Given the description of an element on the screen output the (x, y) to click on. 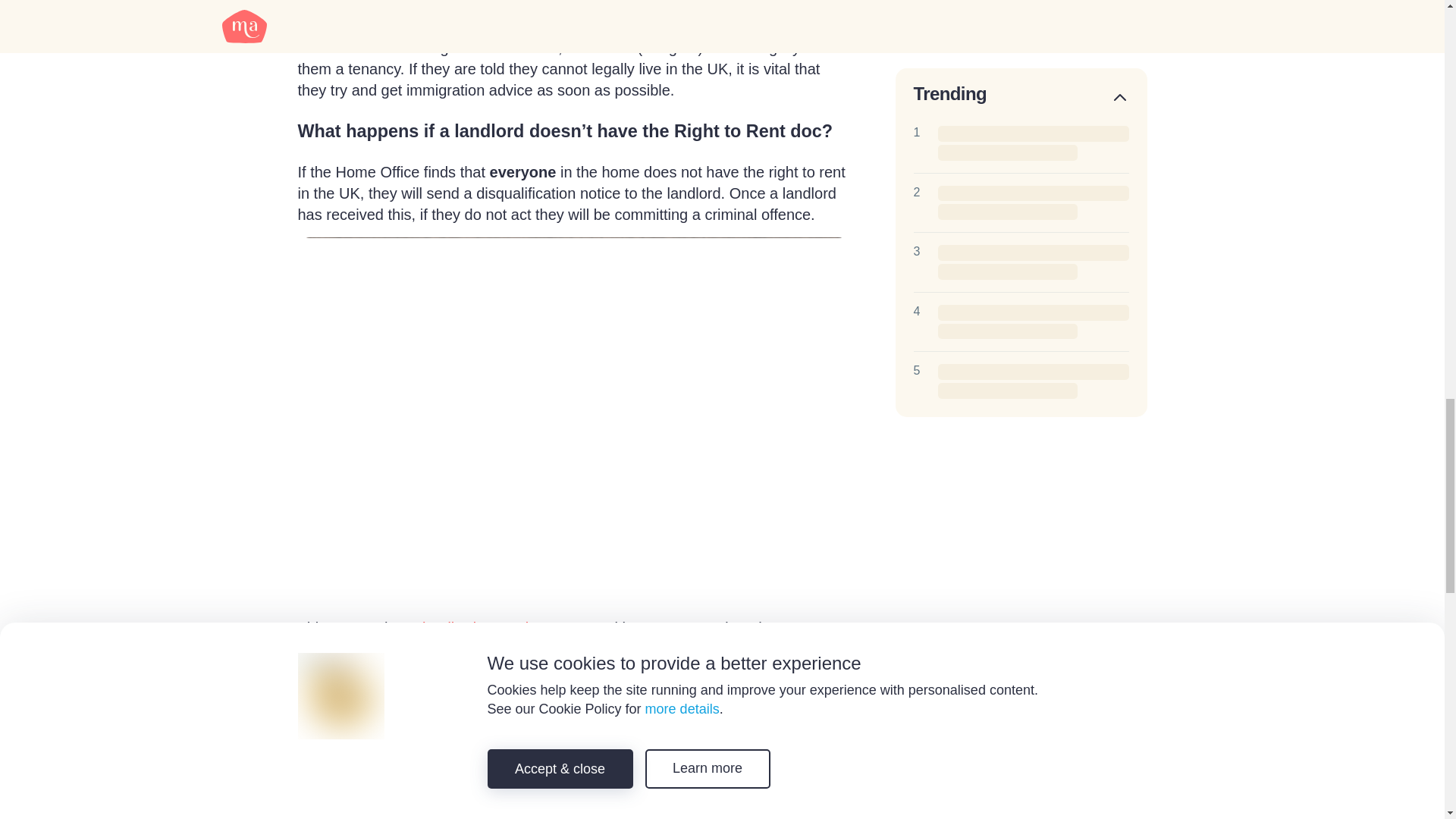
a landlord can evict a tenant (506, 627)
signing a tenancy agreement (520, 6)
